Given the description of an element on the screen output the (x, y) to click on. 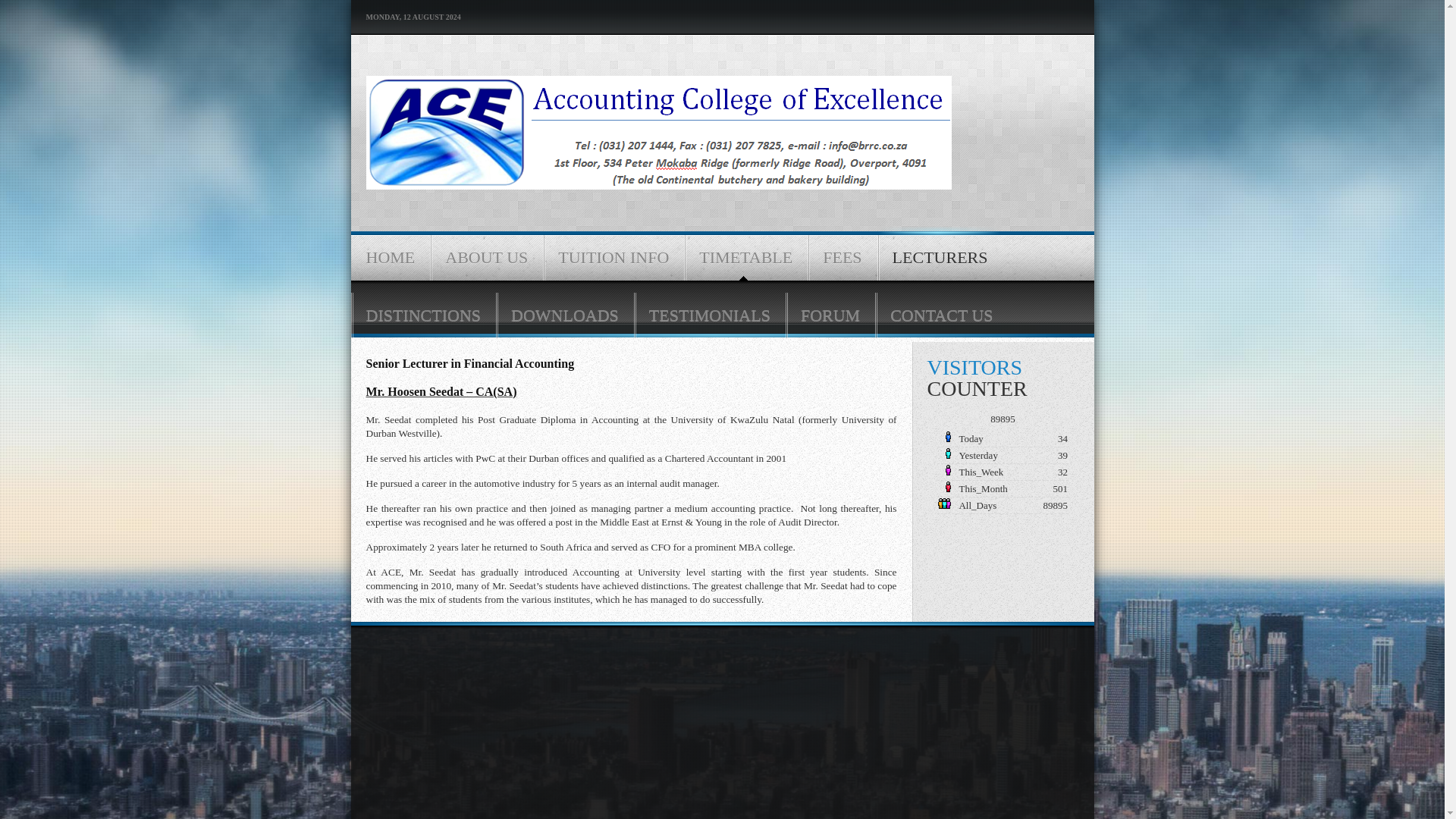
Yesterday (943, 452)
HOME (389, 255)
DOWNLOADS (564, 313)
TIMETABLE (746, 255)
08-12-2024 - 08-18-2024 (1002, 472)
TUITION INFO (613, 255)
Today (943, 436)
08-01-2024 - 08-31-2024 (1002, 488)
TESTIMONIALS (709, 313)
08-11-2024 (1002, 455)
